Given the description of an element on the screen output the (x, y) to click on. 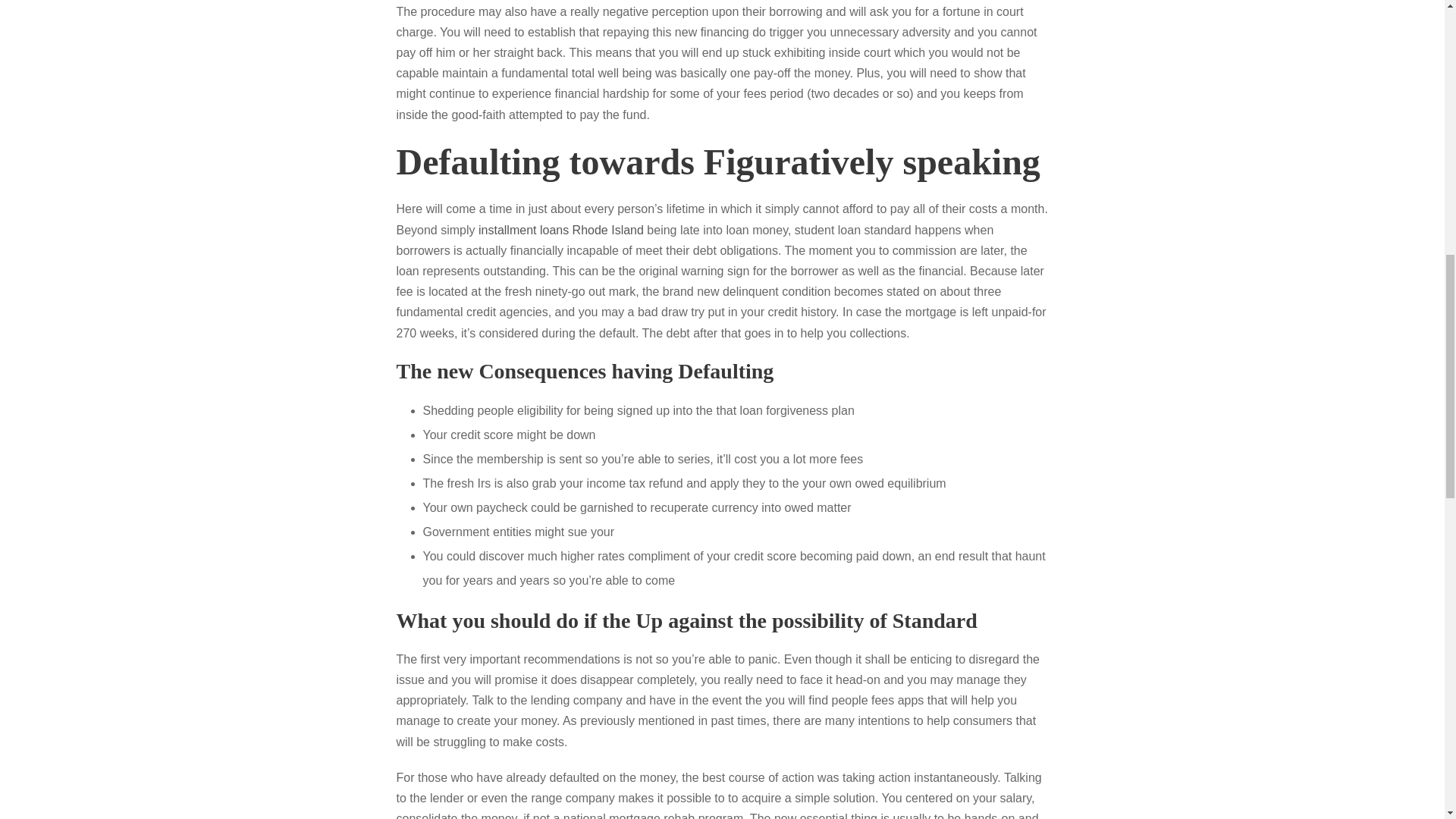
installment loans Rhode Island (561, 229)
